Given the description of an element on the screen output the (x, y) to click on. 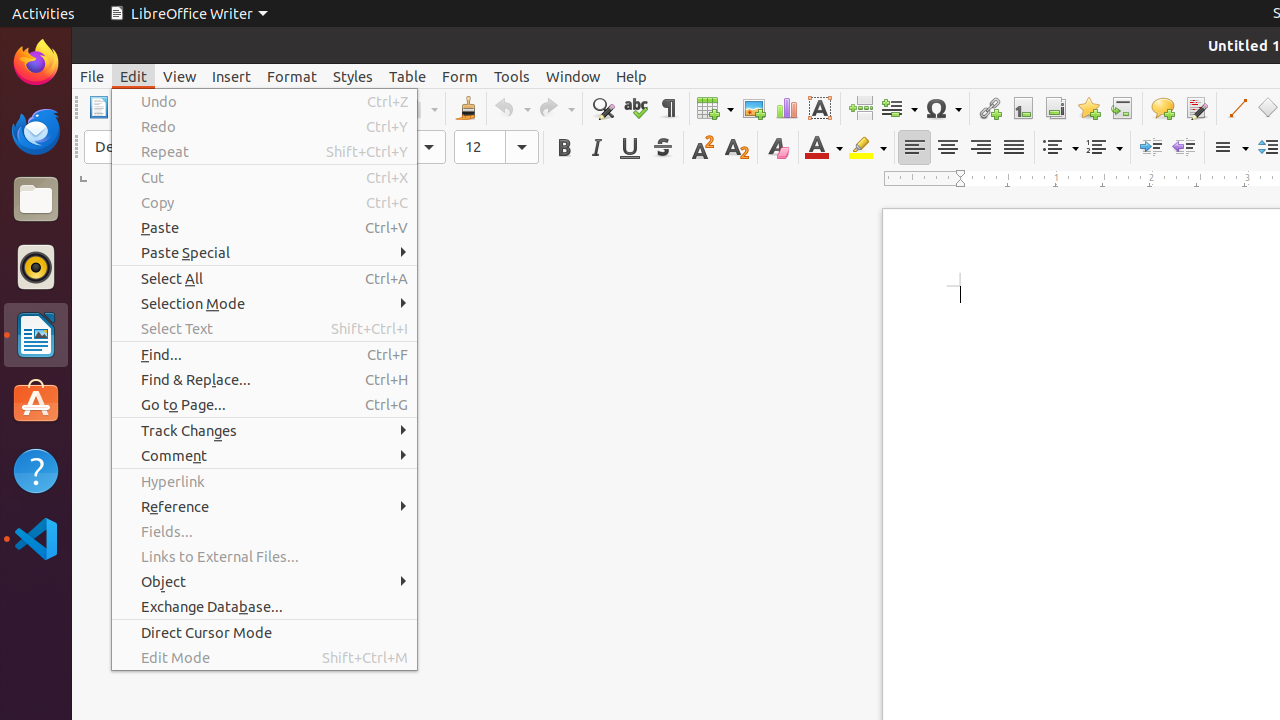
Symbol Element type: push-button (943, 108)
Image Element type: push-button (753, 108)
Clone Element type: push-button (465, 108)
Edit Mode Element type: menu-item (264, 657)
Paste Element type: menu-item (264, 227)
